Given the description of an element on the screen output the (x, y) to click on. 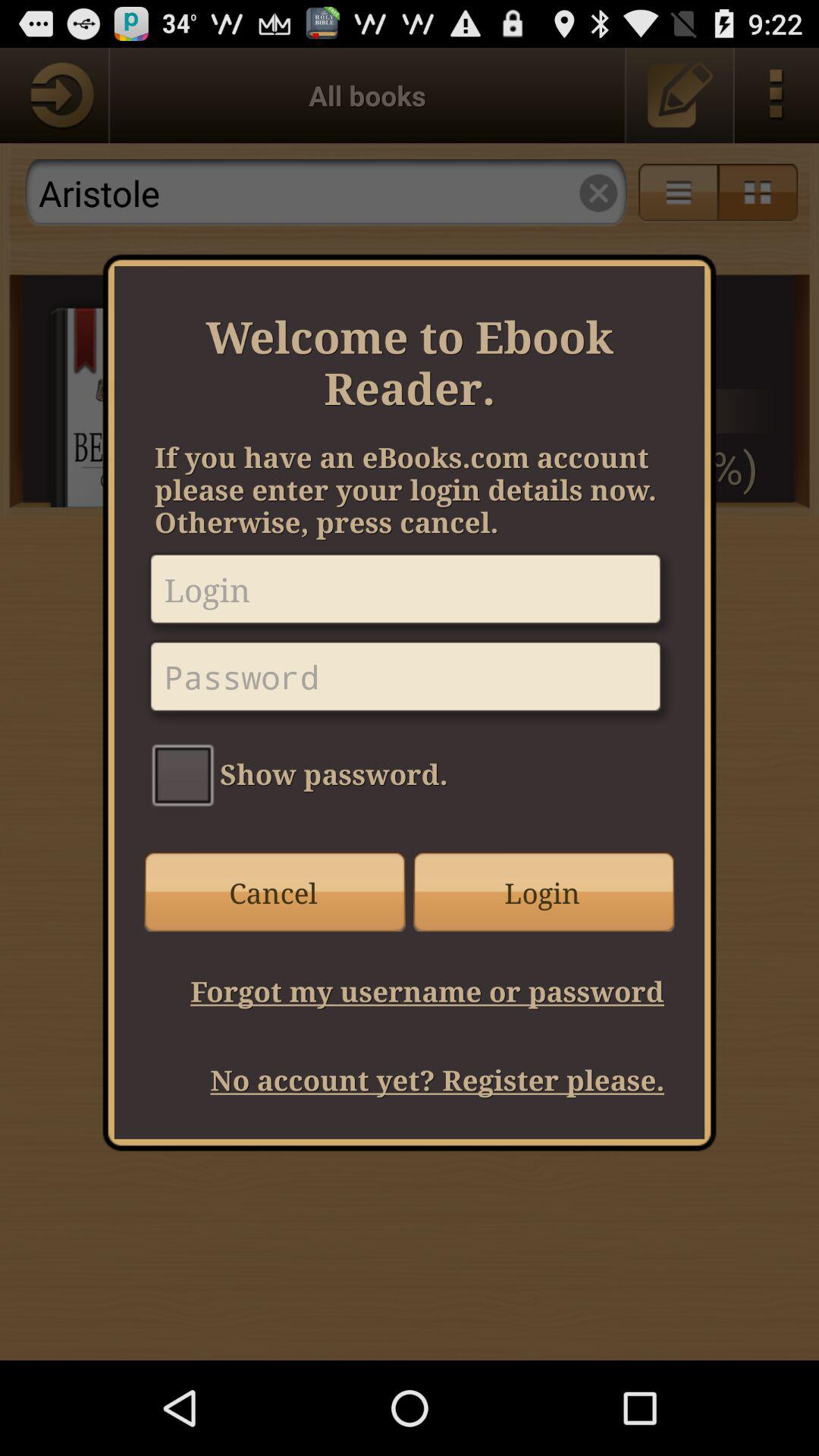
password (409, 682)
